Given the description of an element on the screen output the (x, y) to click on. 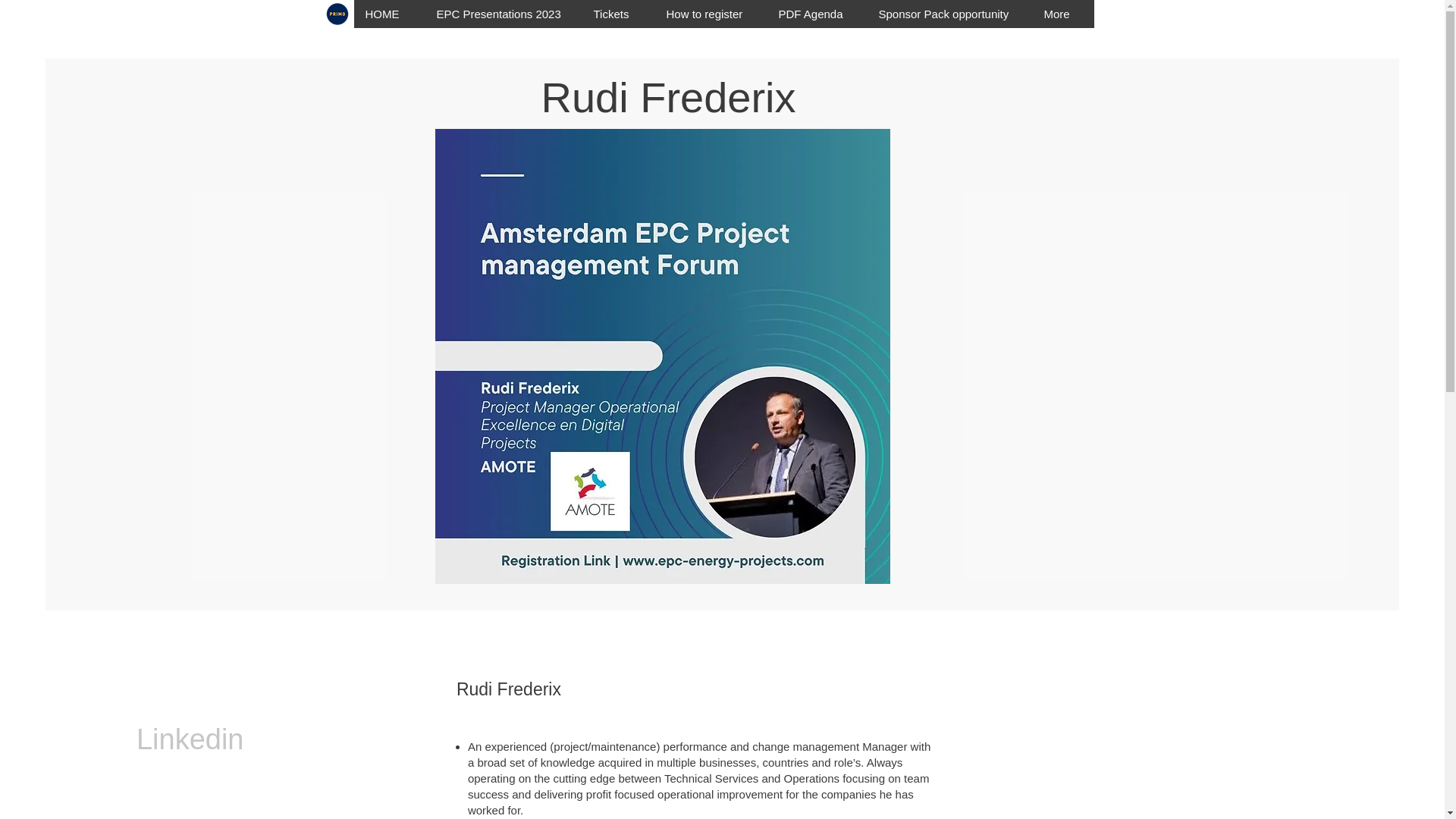
Tickets (616, 13)
How to register (709, 13)
PDF Agenda (815, 13)
EPC Presentations 2023 (502, 13)
Sponsor Pack opportunity (948, 13)
HOME (388, 13)
